Given the description of an element on the screen output the (x, y) to click on. 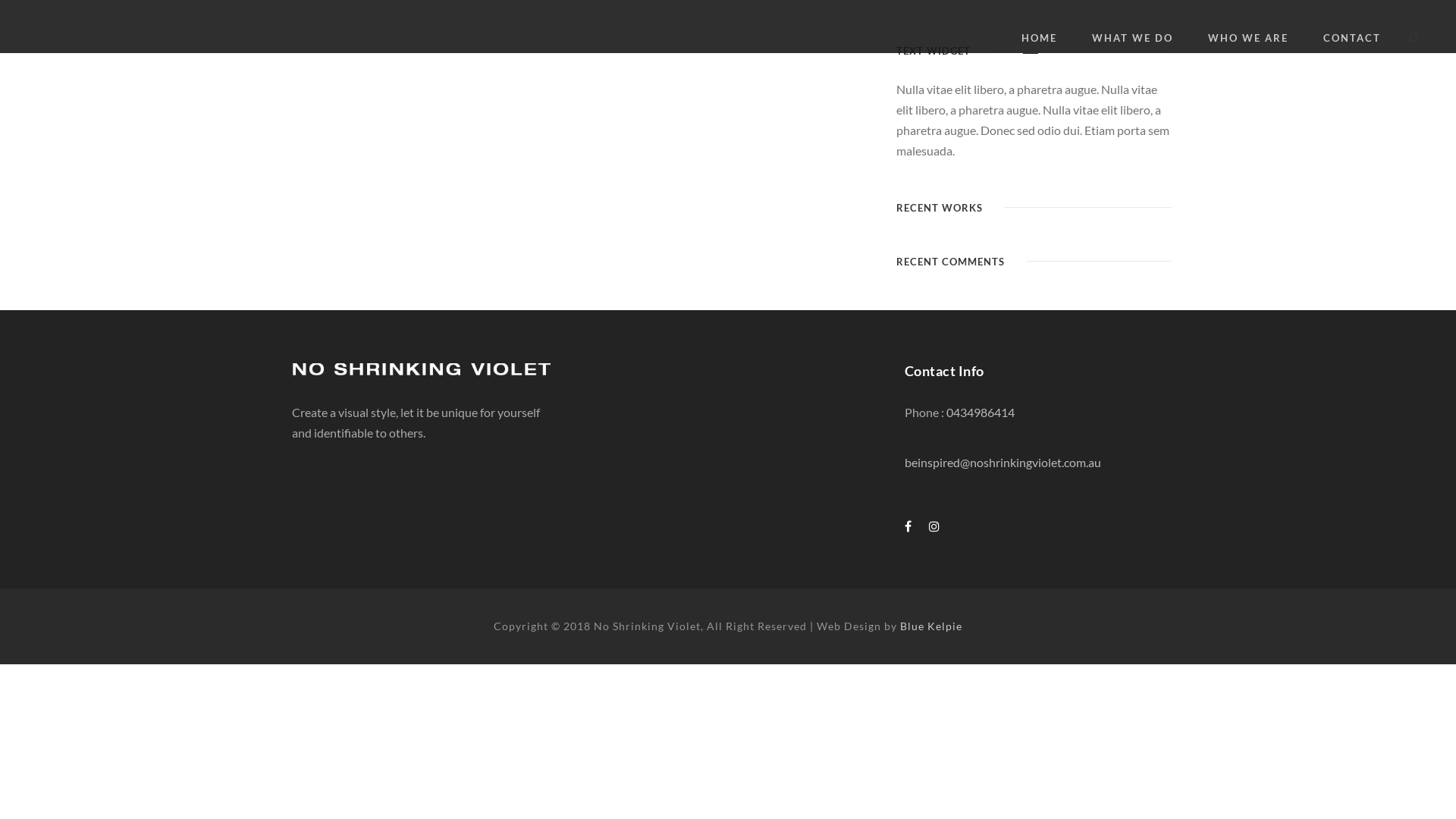
WHO WE ARE Element type: text (1248, 41)
Blue Kelpie Element type: text (931, 625)
WHAT WE DO Element type: text (1132, 41)
0434986414 Element type: text (980, 411)
beinspired@noshrinkingviolet.com.au Element type: text (1002, 462)
HOME Element type: text (1039, 41)
CONTACT Element type: text (1351, 41)
